Given the description of an element on the screen output the (x, y) to click on. 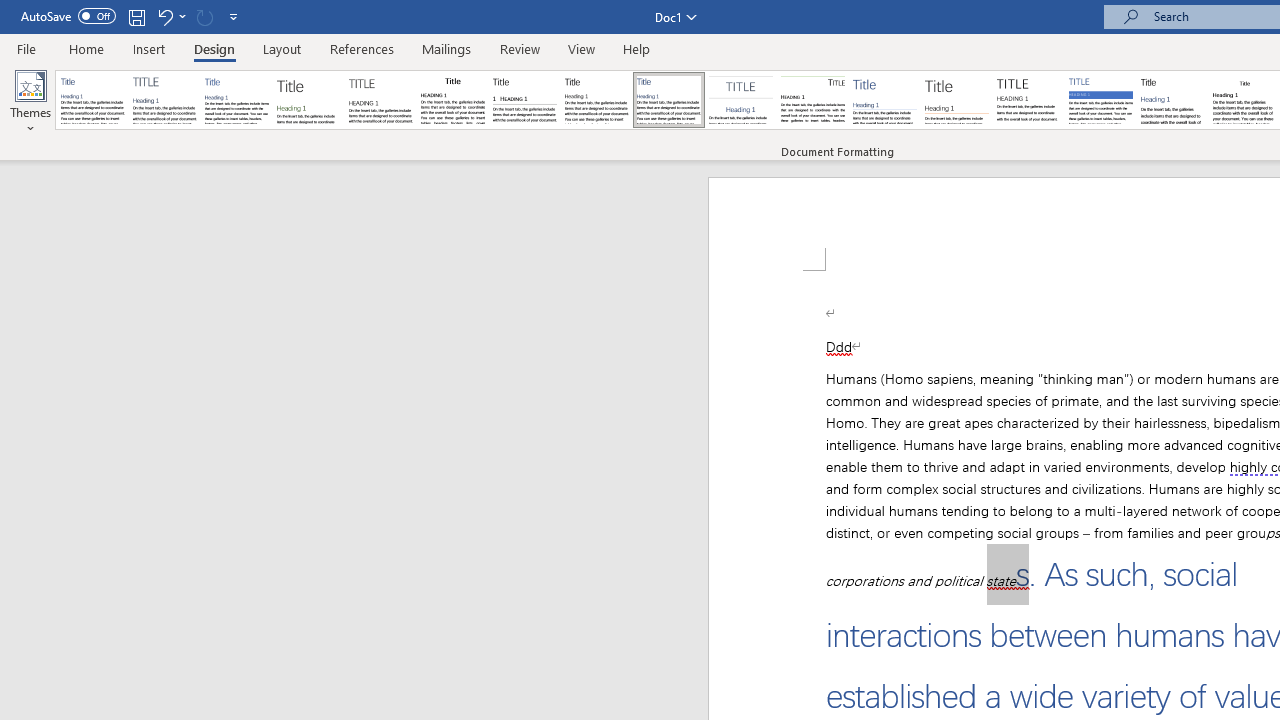
Shaded (1100, 100)
Casual (669, 100)
Minimalist (1028, 100)
Lines (Simple) (884, 100)
Black & White (Word 2013) (596, 100)
Black & White (Capitalized) (381, 100)
Themes (30, 102)
Document (93, 100)
